Given the description of an element on the screen output the (x, y) to click on. 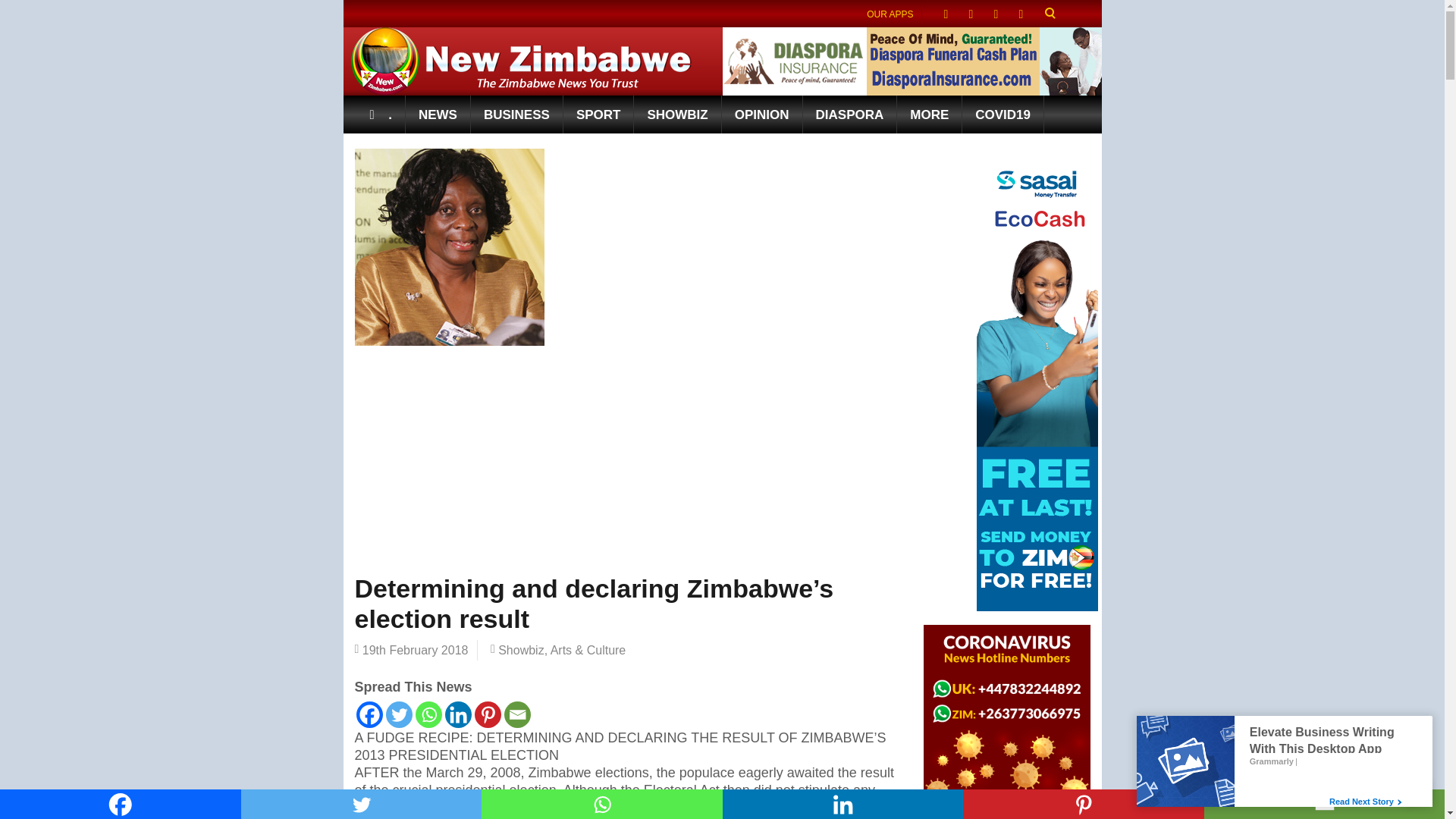
Pinterest (487, 714)
Pinterest (1083, 804)
Email (516, 714)
Facebook (369, 714)
OUR APPS (890, 13)
OPINION (762, 114)
Facebook (120, 804)
NEWS (438, 114)
Twitter (361, 804)
Linkedin (842, 804)
Whatsapp (601, 804)
Linkedin (457, 714)
 . (380, 114)
SPORT (598, 114)
DIASPORA (850, 114)
